Given the description of an element on the screen output the (x, y) to click on. 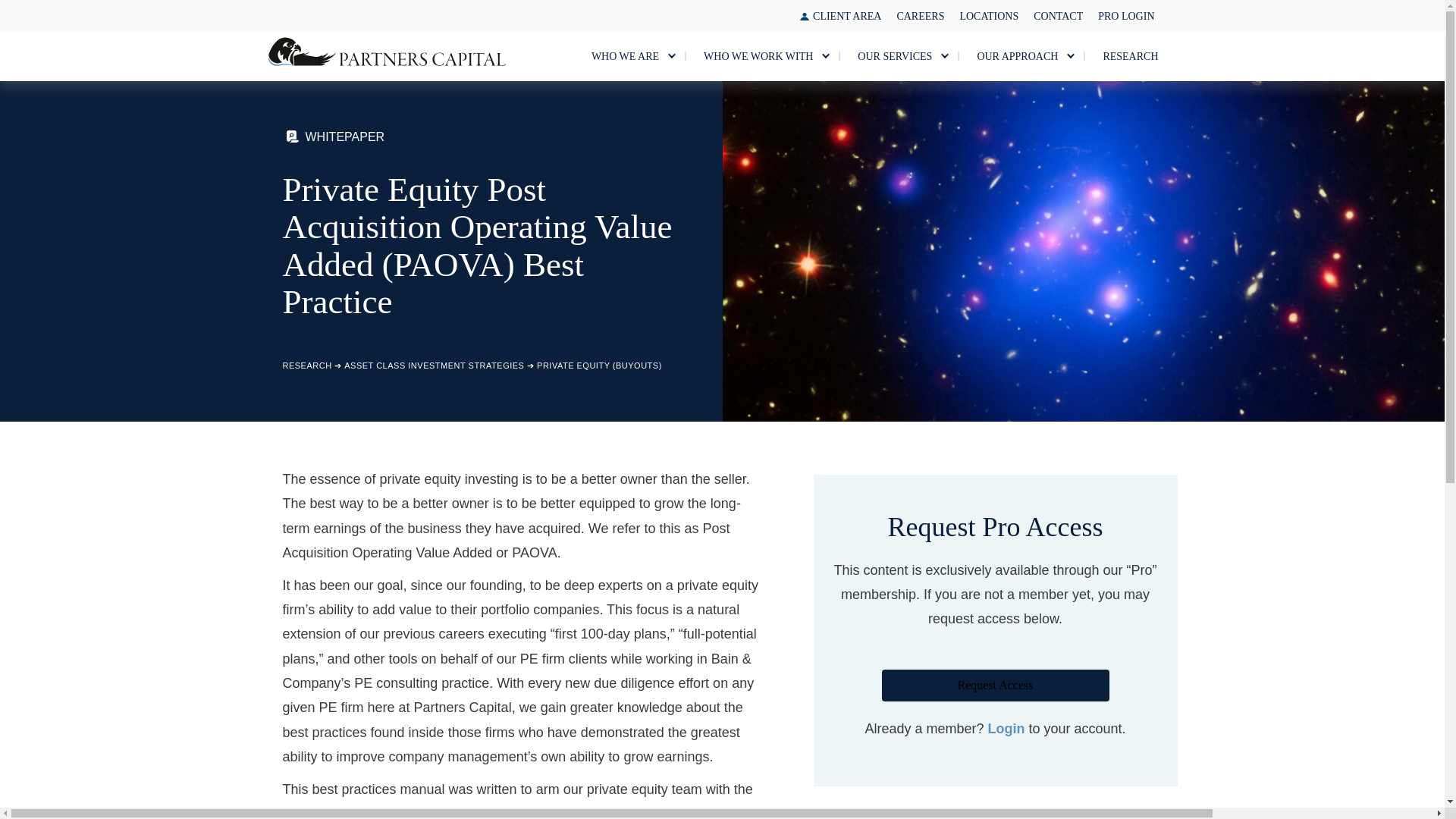
WHO WE WORK WITH (761, 56)
OUR SERVICES (898, 56)
PRO LOGIN (1125, 16)
WHO WE ARE (628, 56)
LOCATIONS (989, 16)
OUR APPROACH (1020, 56)
CAREERS (920, 16)
RESEARCH (1129, 56)
CLIENT AREA (846, 16)
CONTACT (1058, 16)
